Given the description of an element on the screen output the (x, y) to click on. 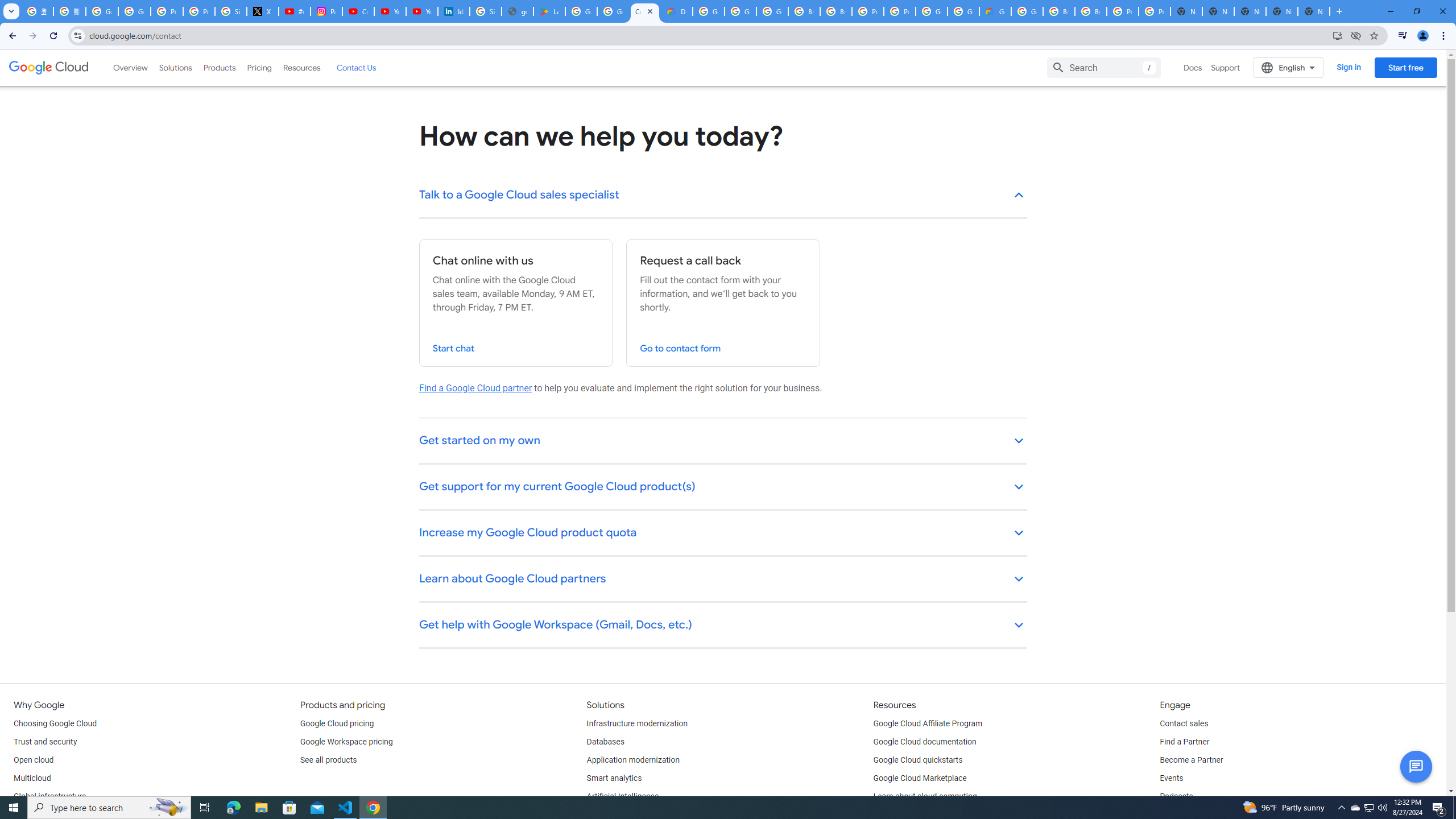
Pricing (259, 67)
Contact Us (355, 67)
Become a Partner (1190, 760)
Google Cloud Platform (708, 11)
New Tab (1338, 11)
Increase my Google Cloud product quota keyboard_arrow_down (723, 533)
Sign in (1348, 67)
Last Shelter: Survival - Apps on Google Play (549, 11)
X (262, 11)
Google Workspace pricing (346, 742)
#nbabasketballhighlights - YouTube (294, 11)
You (1422, 35)
Infrastructure modernization (637, 723)
